Given the description of an element on the screen output the (x, y) to click on. 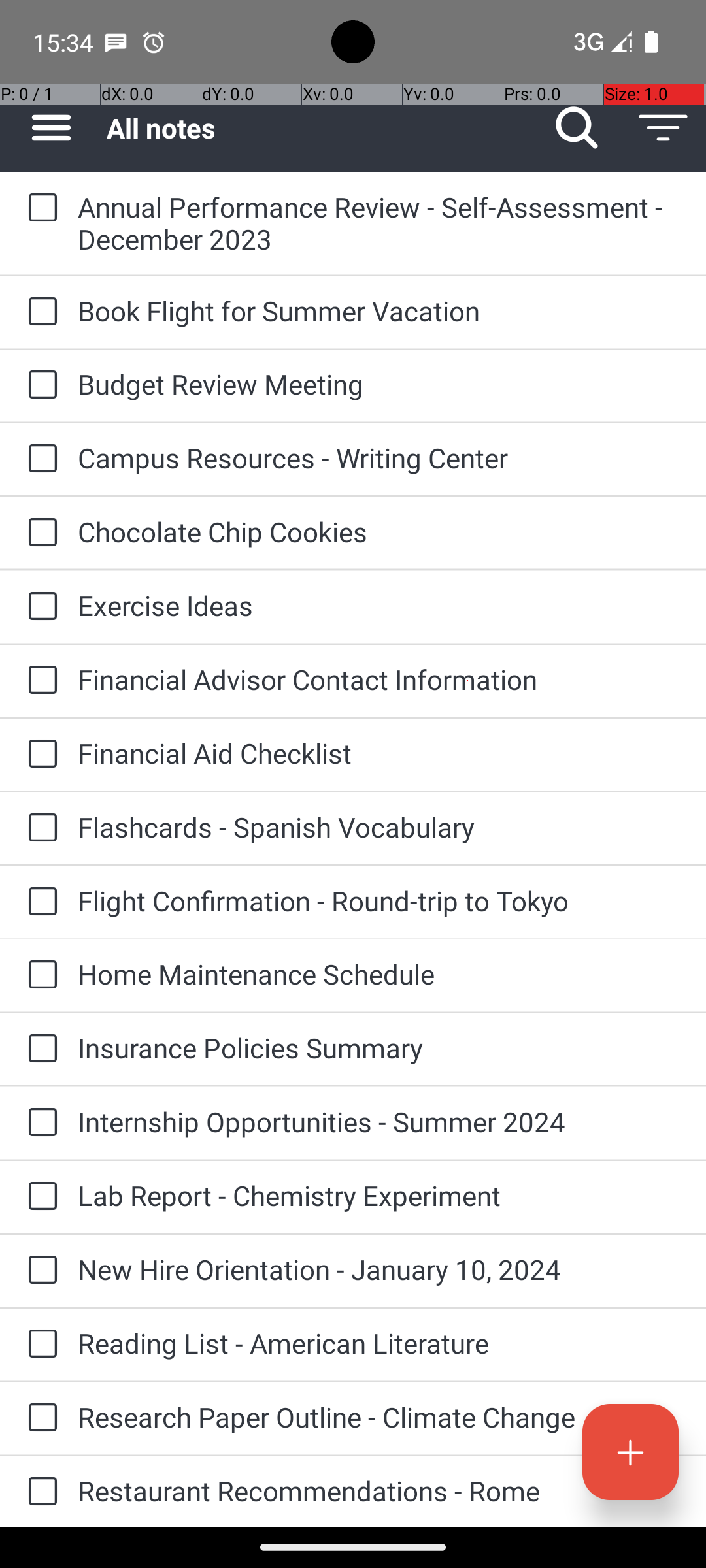
to-do: Book Flight for Summer Vacation Element type: android.widget.CheckBox (38, 312)
Book Flight for Summer Vacation Element type: android.widget.TextView (378, 310)
to-do: Campus Resources - Writing Center Element type: android.widget.CheckBox (38, 459)
Campus Resources - Writing Center Element type: android.widget.TextView (378, 457)
to-do: Chocolate Chip Cookies Element type: android.widget.CheckBox (38, 533)
to-do: Exercise Ideas Element type: android.widget.CheckBox (38, 606)
Exercise Ideas Element type: android.widget.TextView (378, 604)
to-do: Flashcards - Spanish Vocabulary Element type: android.widget.CheckBox (38, 828)
Flashcards - Spanish Vocabulary Element type: android.widget.TextView (378, 826)
to-do: Flight Confirmation - Round-trip to Tokyo Element type: android.widget.CheckBox (38, 902)
to-do: Home Maintenance Schedule Element type: android.widget.CheckBox (38, 975)
Home Maintenance Schedule Element type: android.widget.TextView (378, 973)
to-do: Insurance Policies Summary Element type: android.widget.CheckBox (38, 1049)
to-do: Internship Opportunities - Summer 2024 Element type: android.widget.CheckBox (38, 1123)
Internship Opportunities - Summer 2024 Element type: android.widget.TextView (378, 1121)
to-do: Lab Report - Chemistry Experiment Element type: android.widget.CheckBox (38, 1196)
Lab Report - Chemistry Experiment Element type: android.widget.TextView (378, 1194)
to-do: Reading List - American Literature Element type: android.widget.CheckBox (38, 1344)
Reading List - American Literature Element type: android.widget.TextView (378, 1342)
to-do: Research Paper Outline - Climate Change Element type: android.widget.CheckBox (38, 1418)
Research Paper Outline - Climate Change Element type: android.widget.TextView (378, 1416)
